Given the description of an element on the screen output the (x, y) to click on. 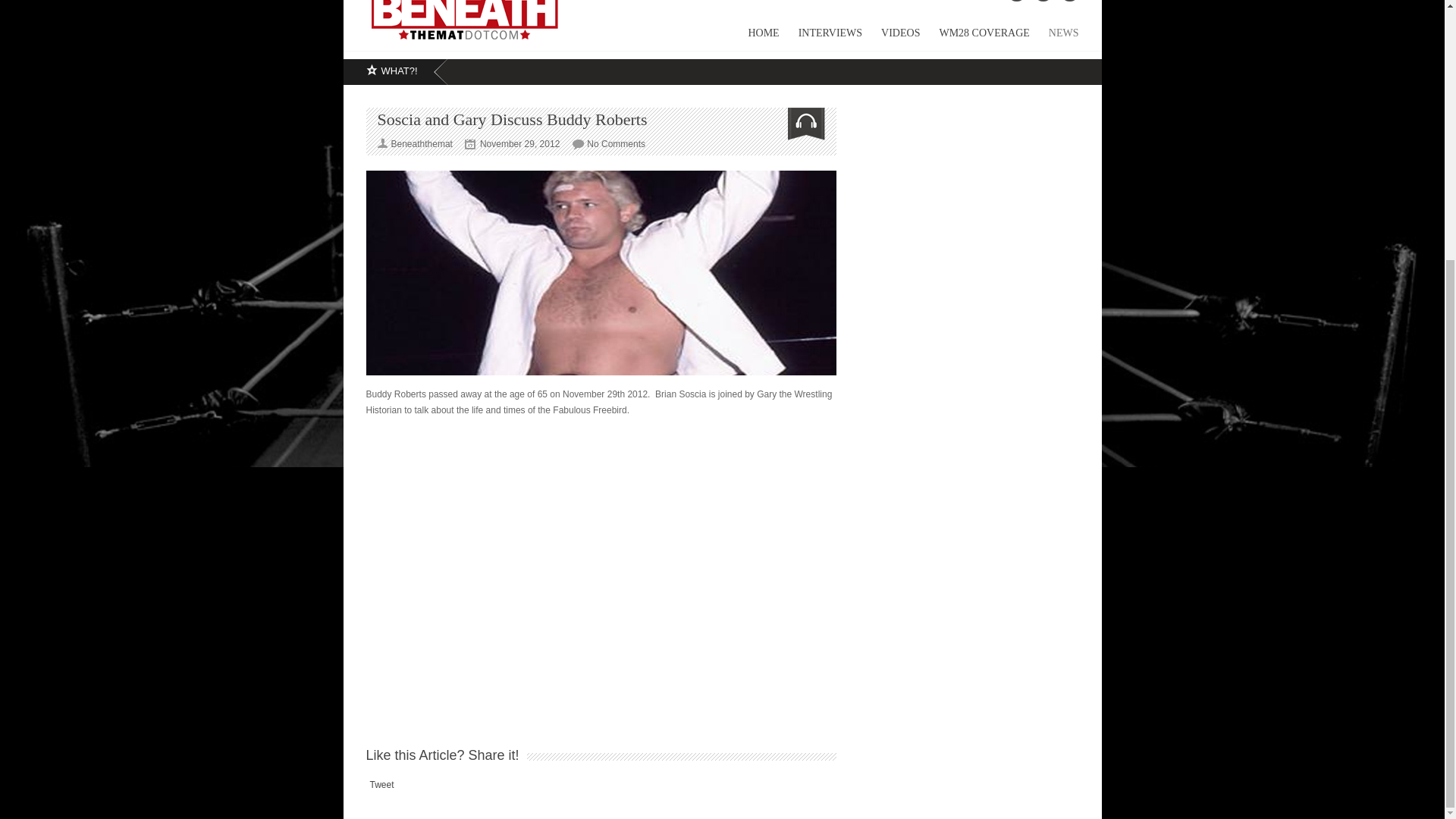
INTERVIEWS (819, 38)
YouTube video player (600, 561)
HOME (753, 38)
No Comments (615, 143)
Tweet (381, 784)
NEWS (1053, 38)
WM28 COVERAGE (974, 38)
Comment on Soscia and Gary Discuss Buddy Roberts (615, 143)
VIDEOS (890, 38)
